Given the description of an element on the screen output the (x, y) to click on. 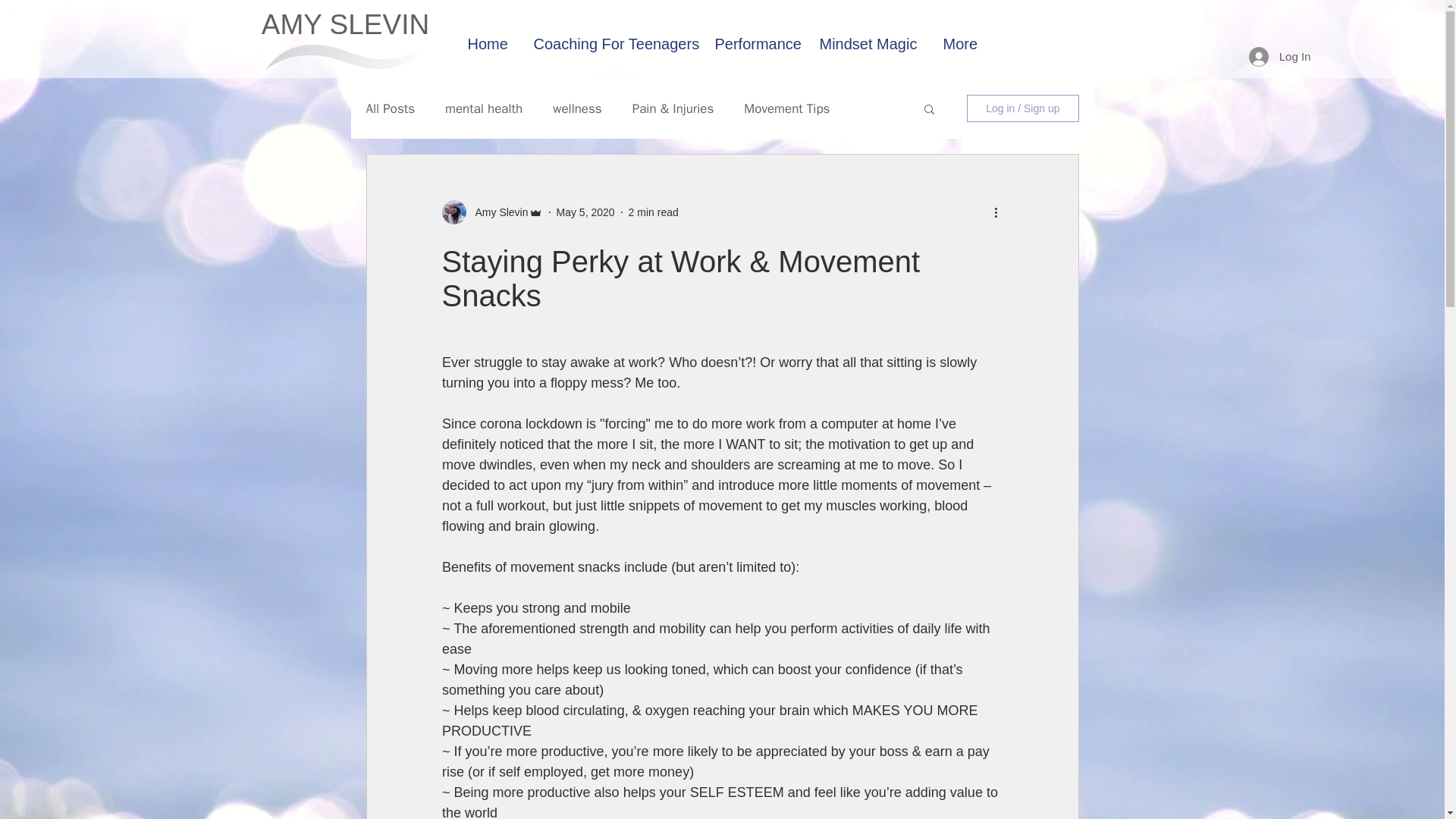
Mindset Magic (866, 37)
wellness (577, 108)
mental health (483, 108)
All Posts (389, 108)
Performance (752, 37)
Log In (1280, 56)
2 min read (653, 212)
Amy Slevin (491, 211)
Movement Tips (786, 108)
Amy Slevin (496, 212)
